Given the description of an element on the screen output the (x, y) to click on. 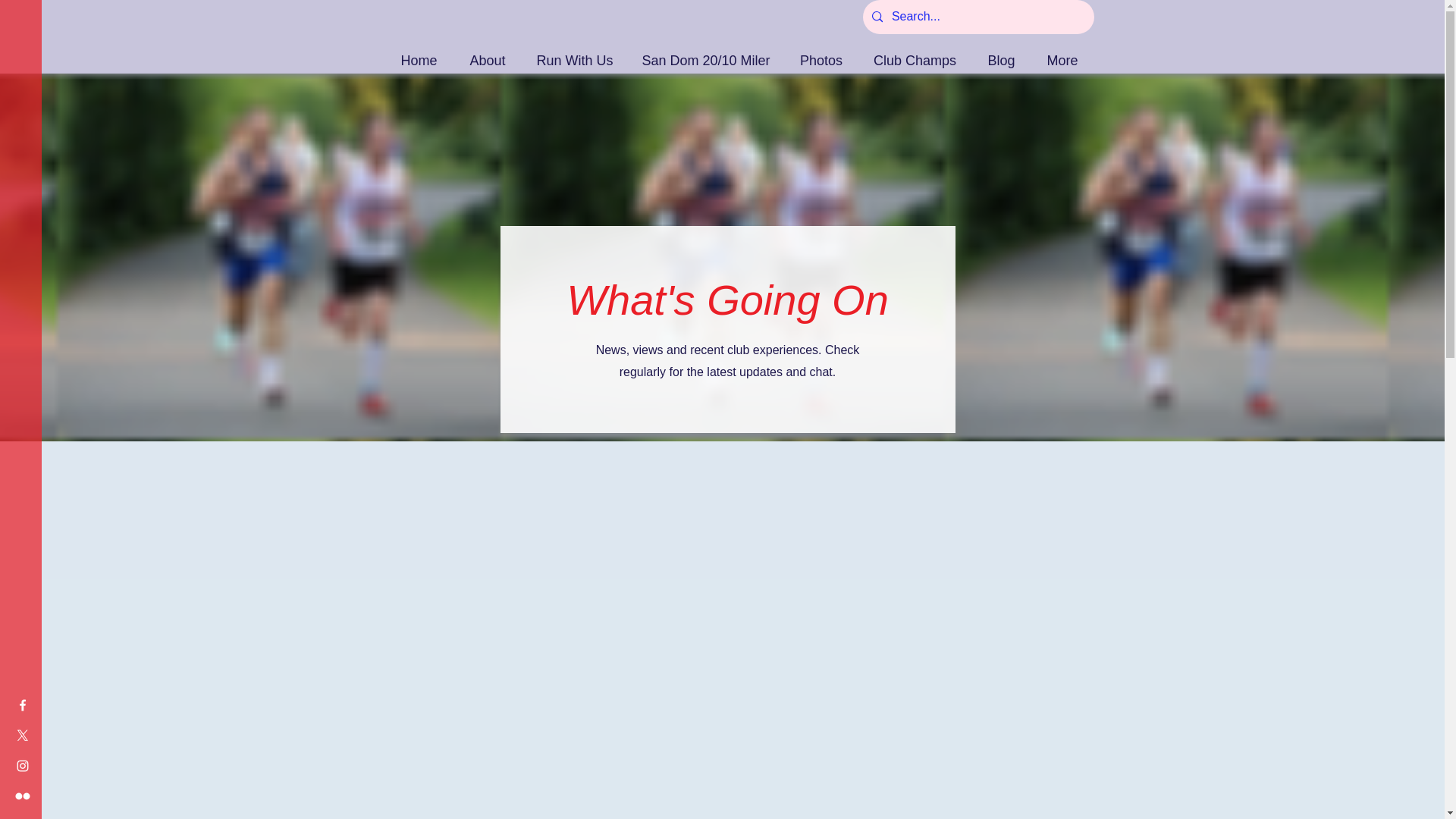
Home (418, 53)
Photos (820, 53)
About (487, 53)
Blog (1001, 53)
Club Champs (915, 53)
Run With Us (574, 53)
